Given the description of an element on the screen output the (x, y) to click on. 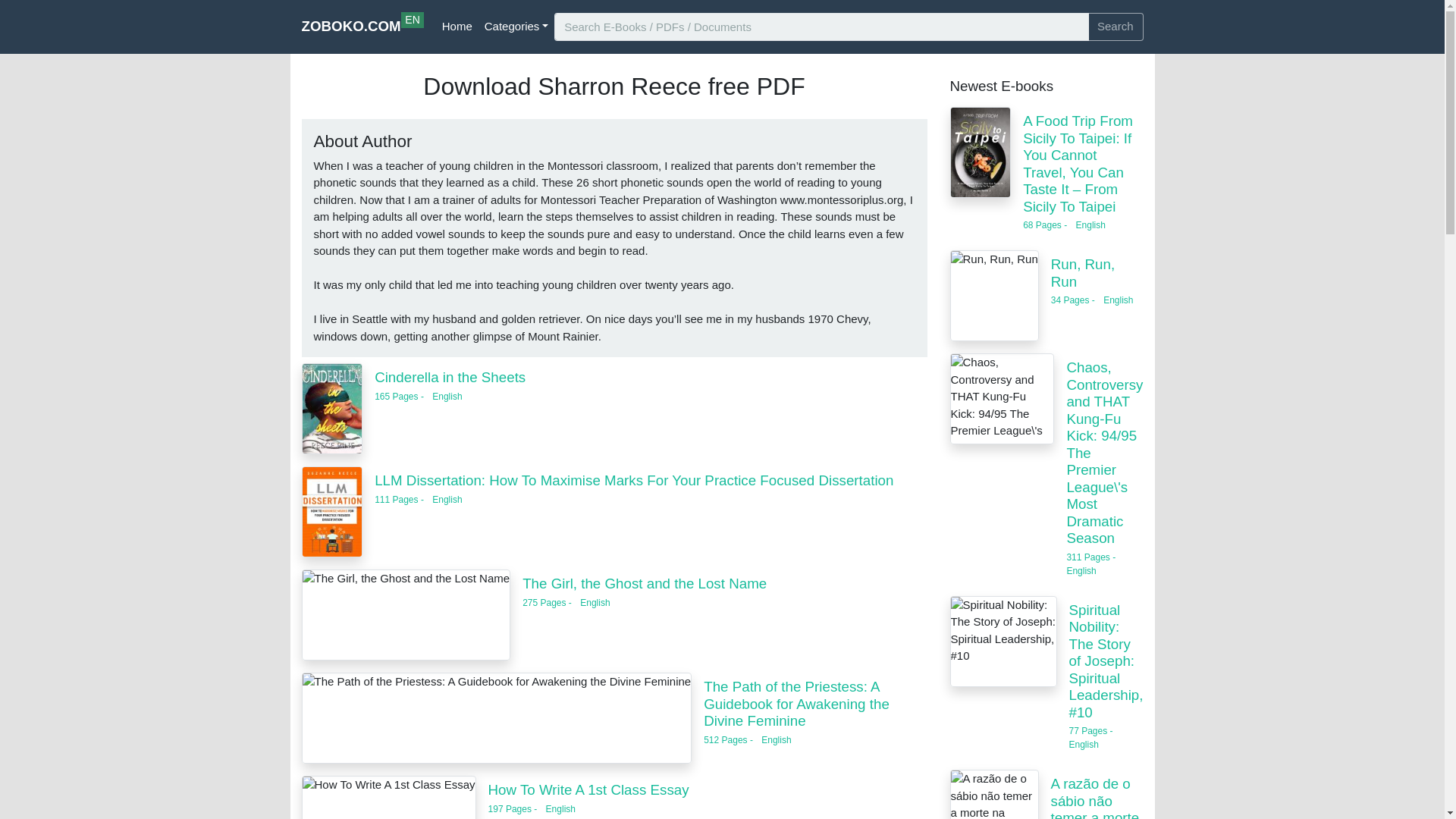
Home (457, 26)
Run, Run, Run (1083, 272)
Categories (362, 26)
How To Write A 1st Class Essay (516, 26)
Run, Run, Run (587, 789)
How To Write A 1st Class Essay (993, 295)
